Given the description of an element on the screen output the (x, y) to click on. 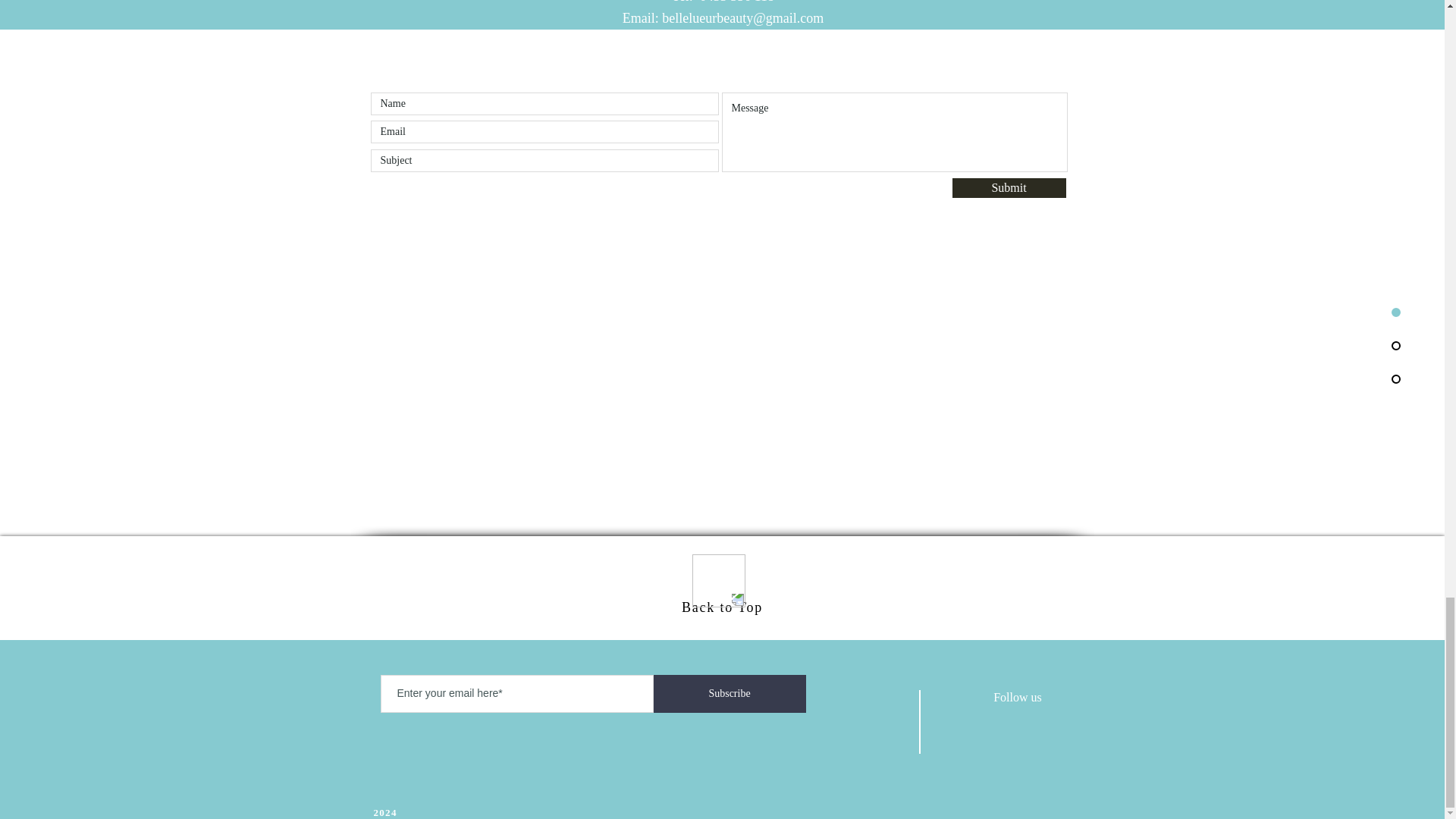
Back to Top (721, 607)
Subscribe (729, 693)
Submit (1008, 187)
